Given the description of an element on the screen output the (x, y) to click on. 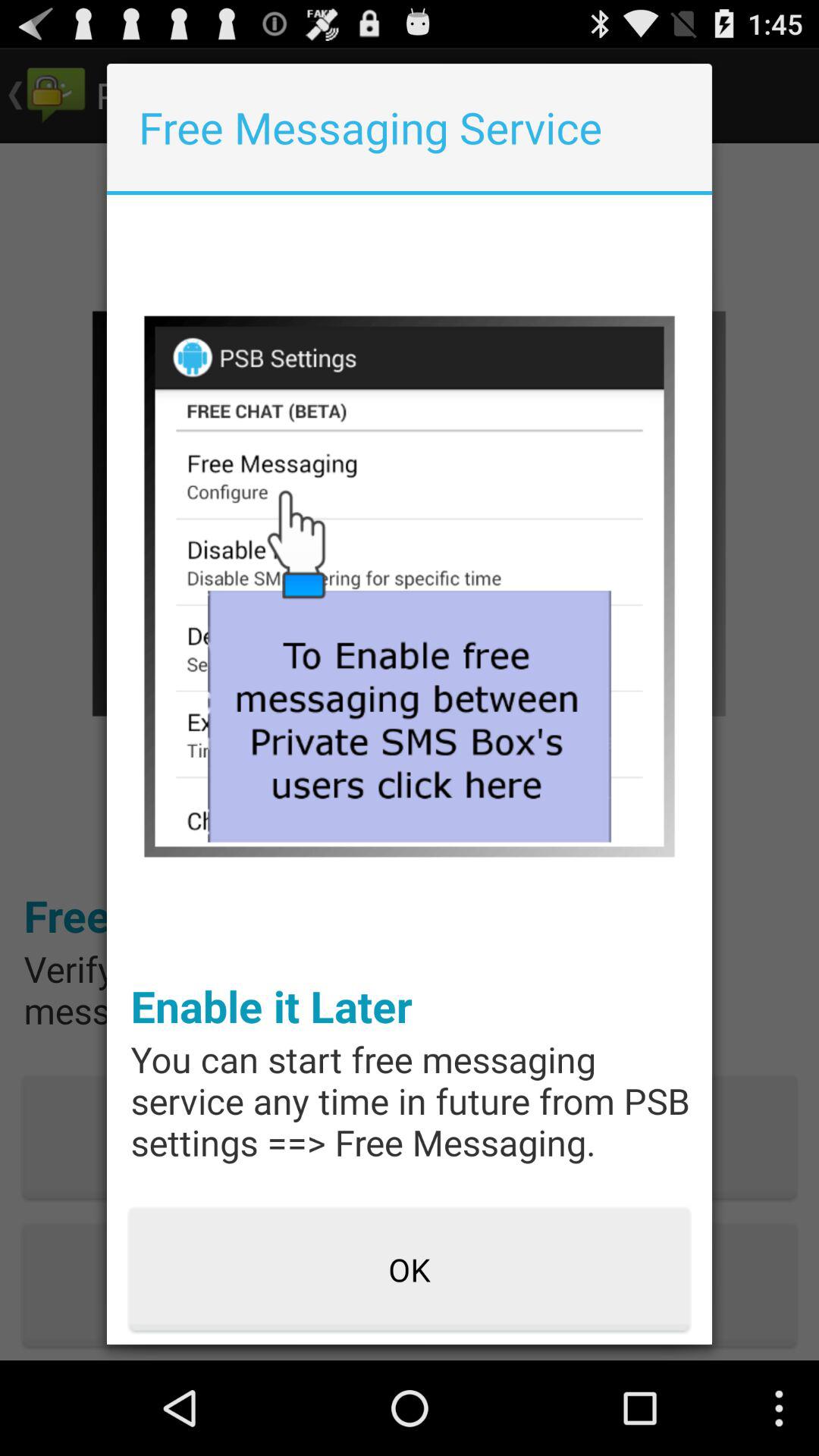
jump to ok (409, 1270)
